Given the description of an element on the screen output the (x, y) to click on. 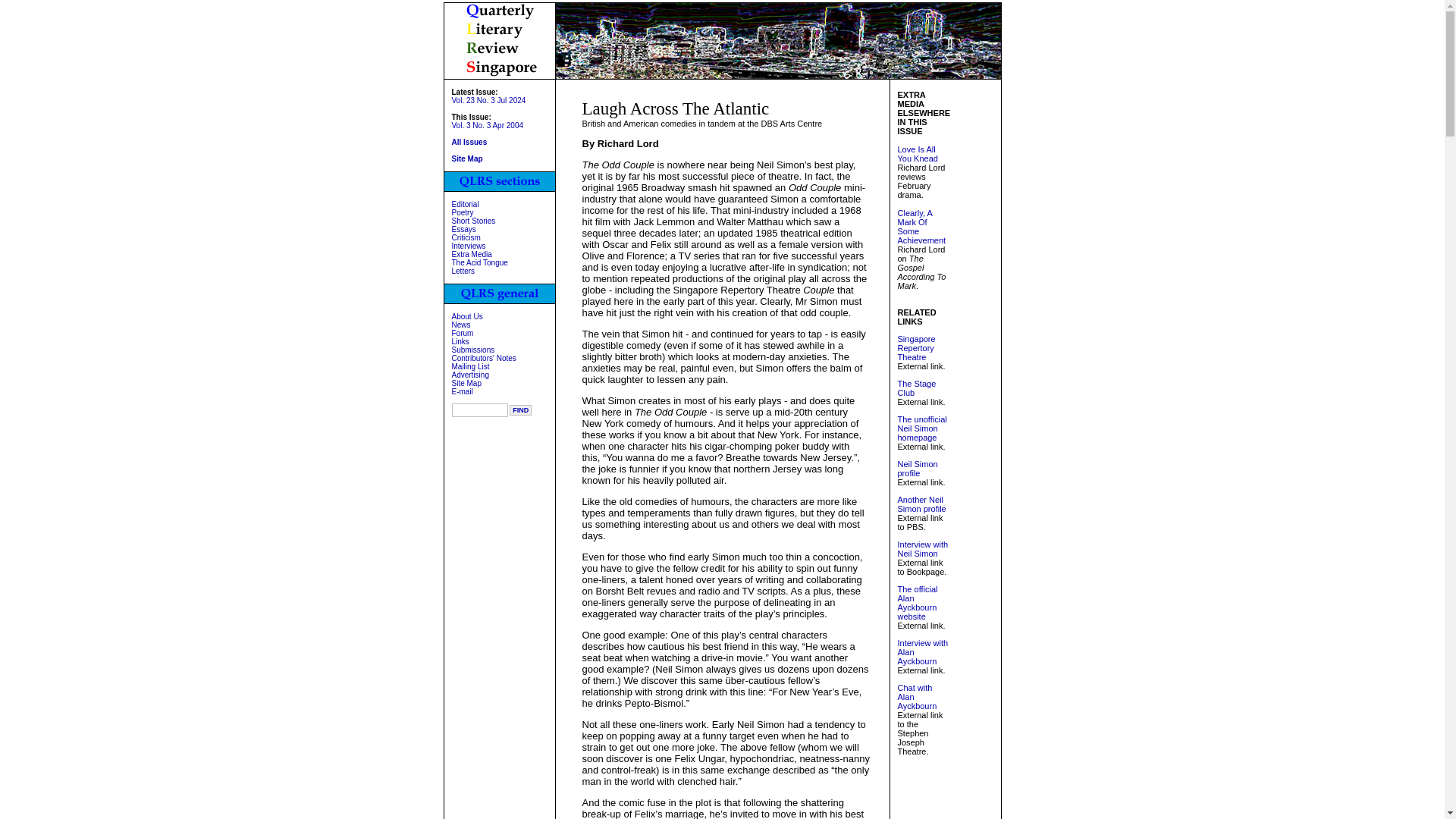
Interview with Neil Simon (923, 548)
Short Stories (473, 221)
E-mail (462, 391)
FIND (520, 409)
Singapore Repertory Theatre (917, 347)
The official Alan Ayckbourn website (917, 602)
Site Map (466, 383)
Vol. 23 No. 3 Jul 2024 (488, 100)
Mailing List (470, 366)
News (460, 325)
FIND (520, 409)
The unofficial Neil Simon homepage (922, 428)
Criticism (465, 237)
Editorial (465, 203)
FIND (520, 409)
